Given the description of an element on the screen output the (x, y) to click on. 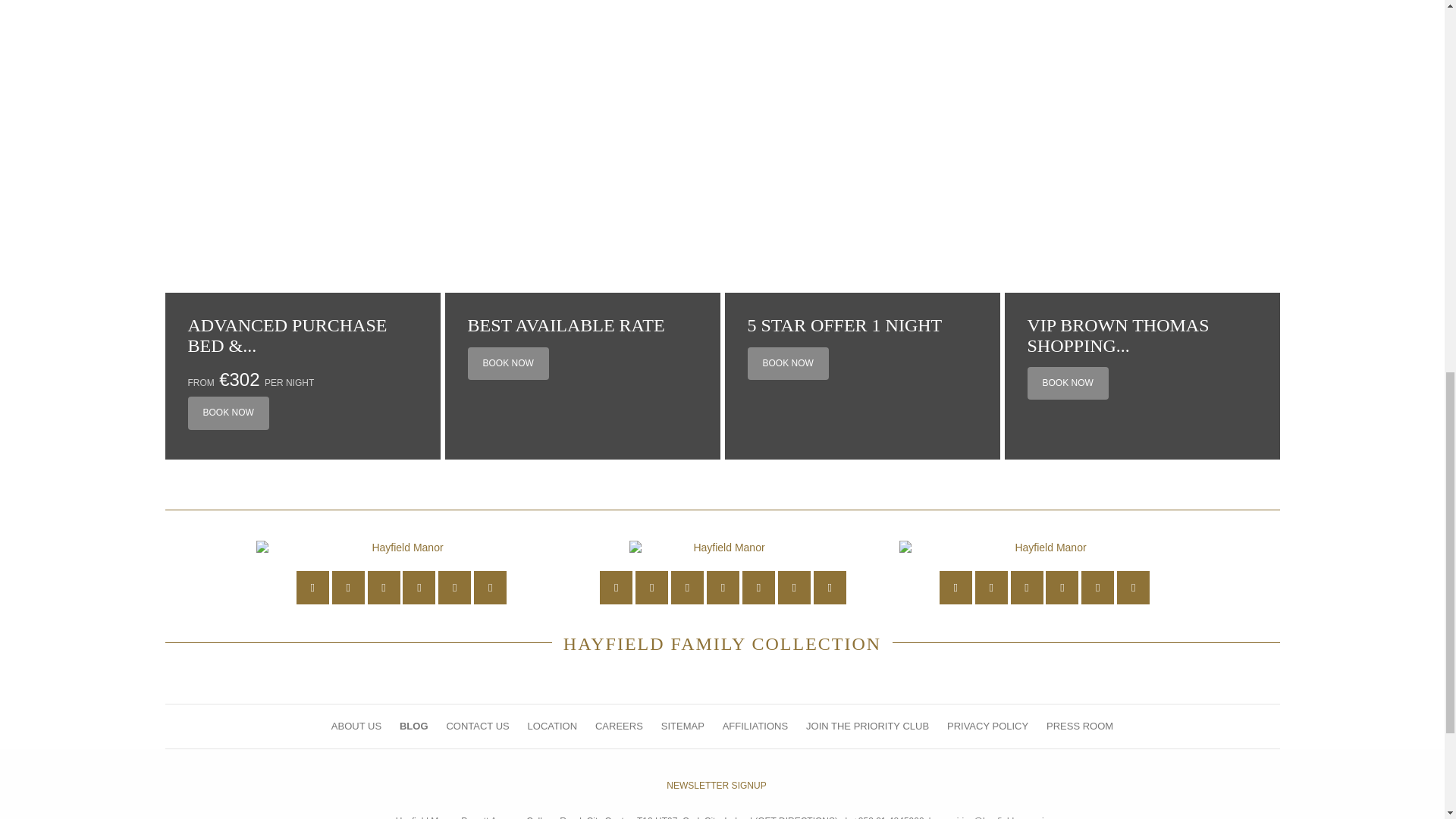
Instagram (419, 587)
Location (615, 587)
Facebook (1026, 587)
Facebook (687, 587)
TripAdvisor (829, 587)
TripAdvisor (490, 587)
Twitter (348, 587)
Twitter (991, 587)
Pinterest (793, 587)
Twitter (651, 587)
Instagram (1061, 587)
Facebook (384, 587)
Pinterest (1097, 587)
YouTube (722, 587)
Location (313, 587)
